Given the description of an element on the screen output the (x, y) to click on. 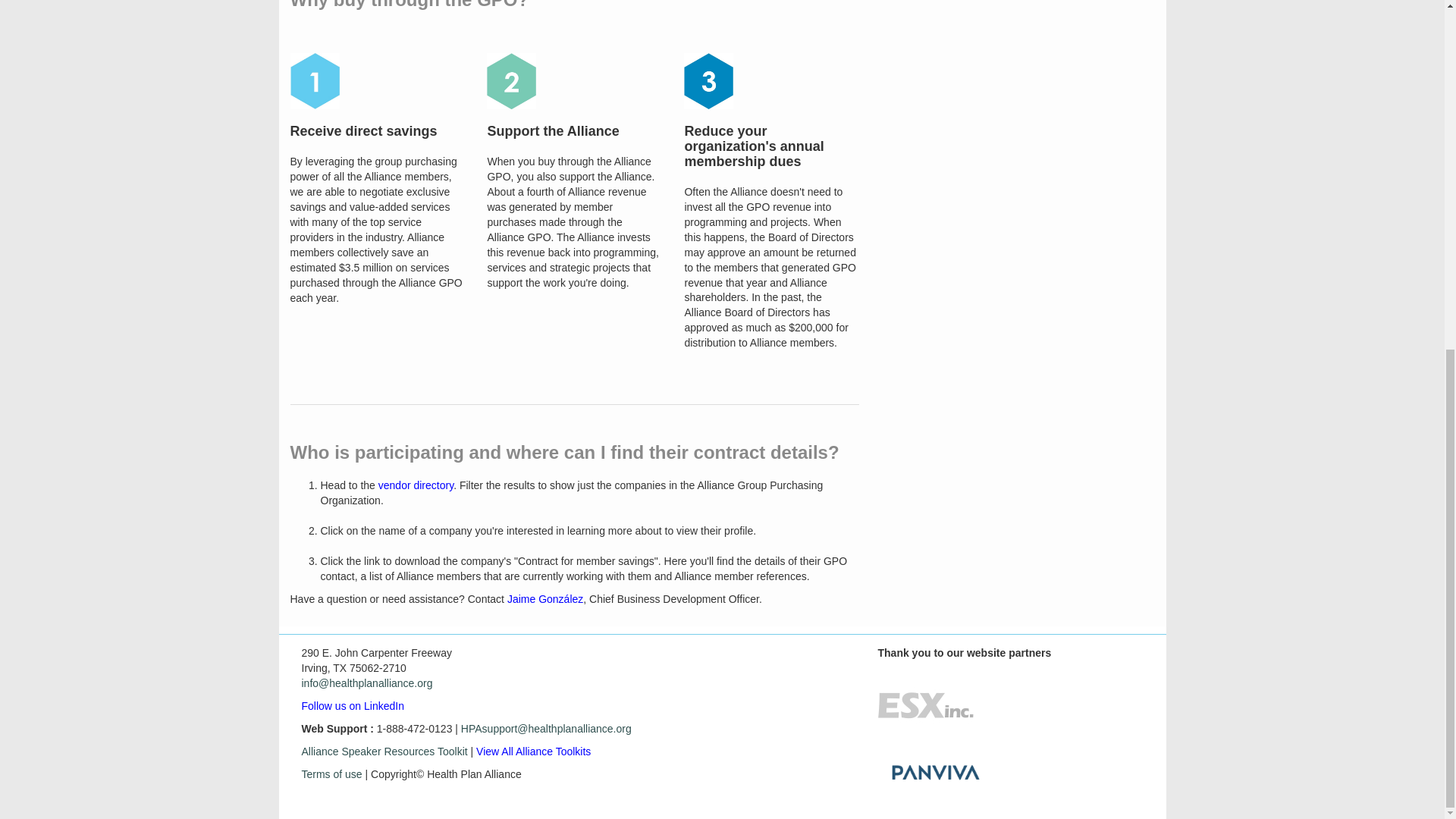
Linkedin (352, 705)
vendor directory (415, 485)
Alliance Speaker Resources Toolkit (384, 751)
Follow us on LinkedIn (352, 705)
Terms of use (331, 774)
View All Alliance Toolkits (533, 751)
